Given the description of an element on the screen output the (x, y) to click on. 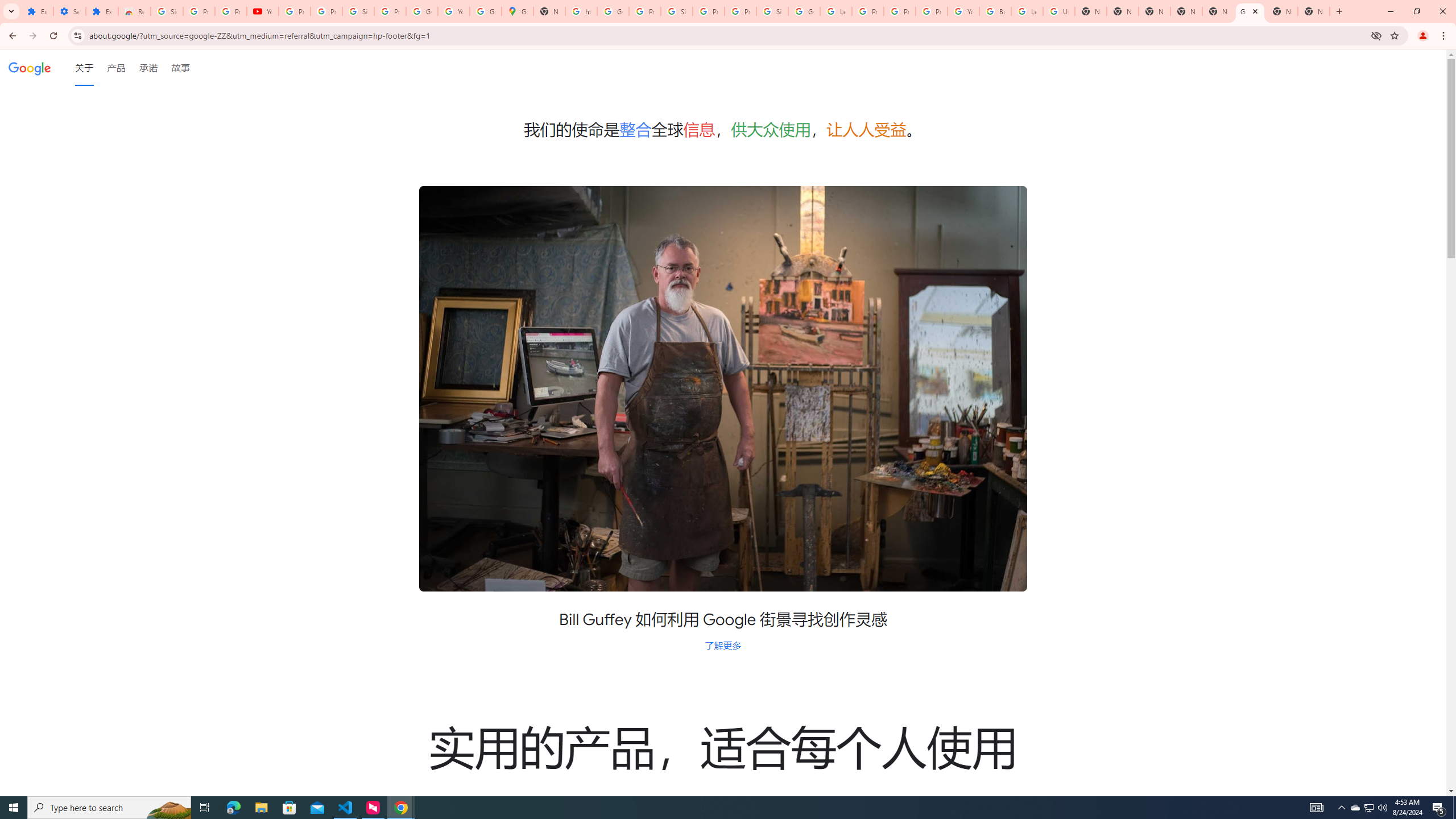
Browse Chrome as a guest - Computer - Google Chrome Help (995, 11)
Google (29, 67)
Sign in - Google Accounts (676, 11)
Sign in - Google Accounts (166, 11)
Privacy Help Center - Policies Help (899, 11)
Extensions (101, 11)
